Given the description of an element on the screen output the (x, y) to click on. 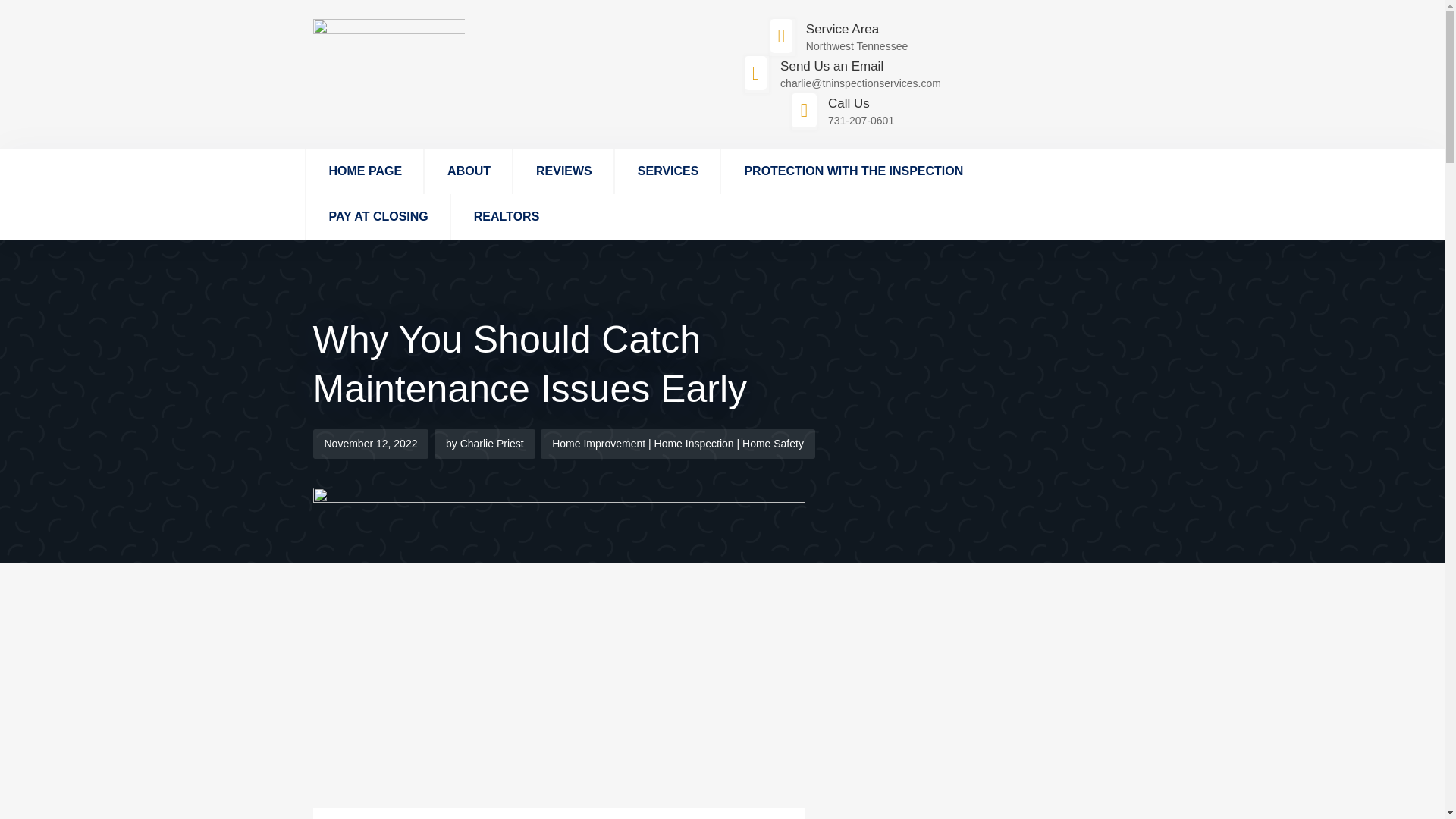
Home Improvement (598, 443)
REVIEWS (563, 171)
REALTORS (505, 216)
ABOUT (468, 171)
PAY AT CLOSING (377, 216)
Home Inspection (693, 443)
HOME PAGE (364, 171)
Header Logo (388, 30)
PROTECTION WITH THE INSPECTION (852, 171)
Home Safety (772, 443)
SERVICES (667, 171)
